Given the description of an element on the screen output the (x, y) to click on. 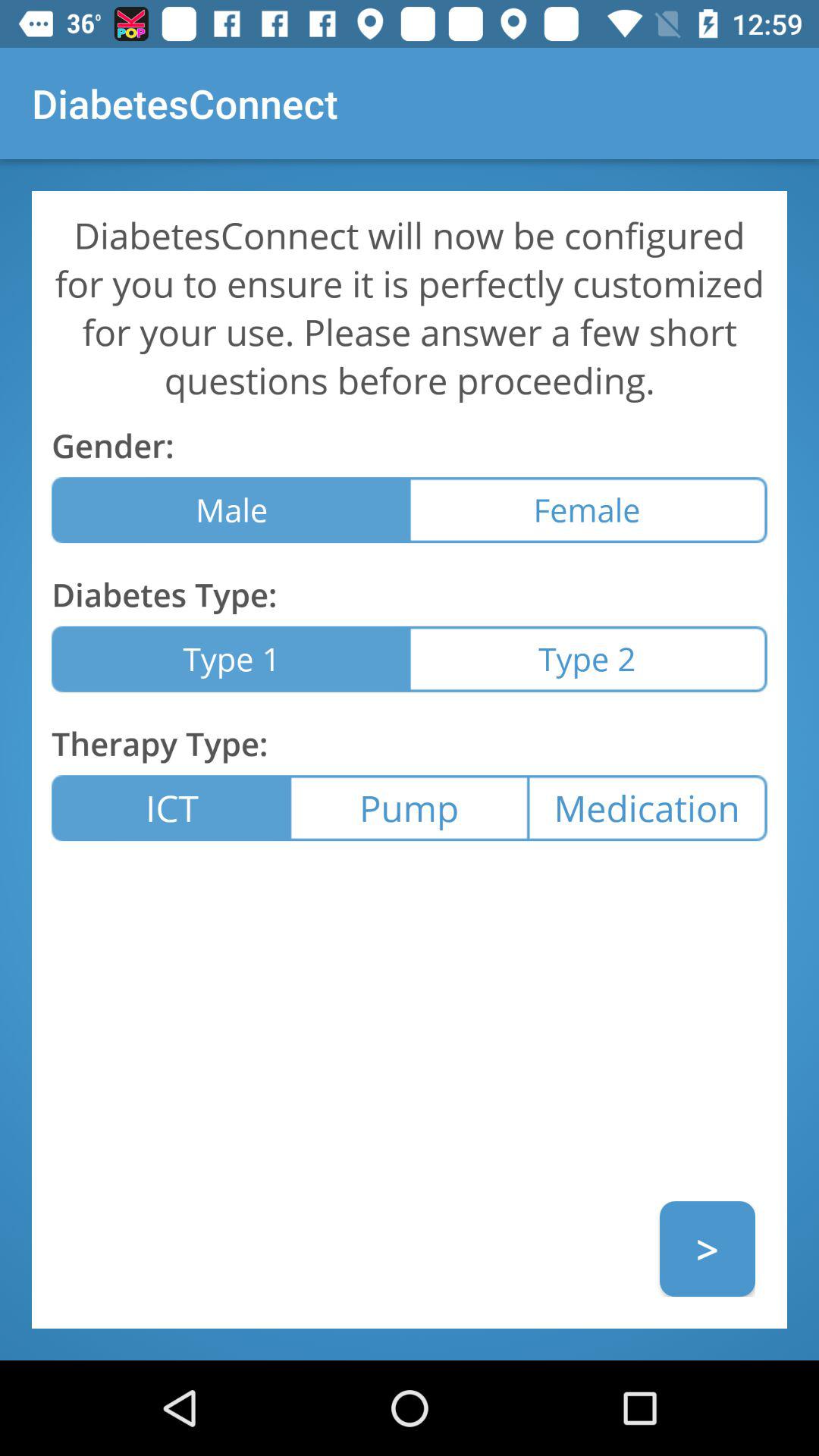
press female icon (588, 510)
